Given the description of an element on the screen output the (x, y) to click on. 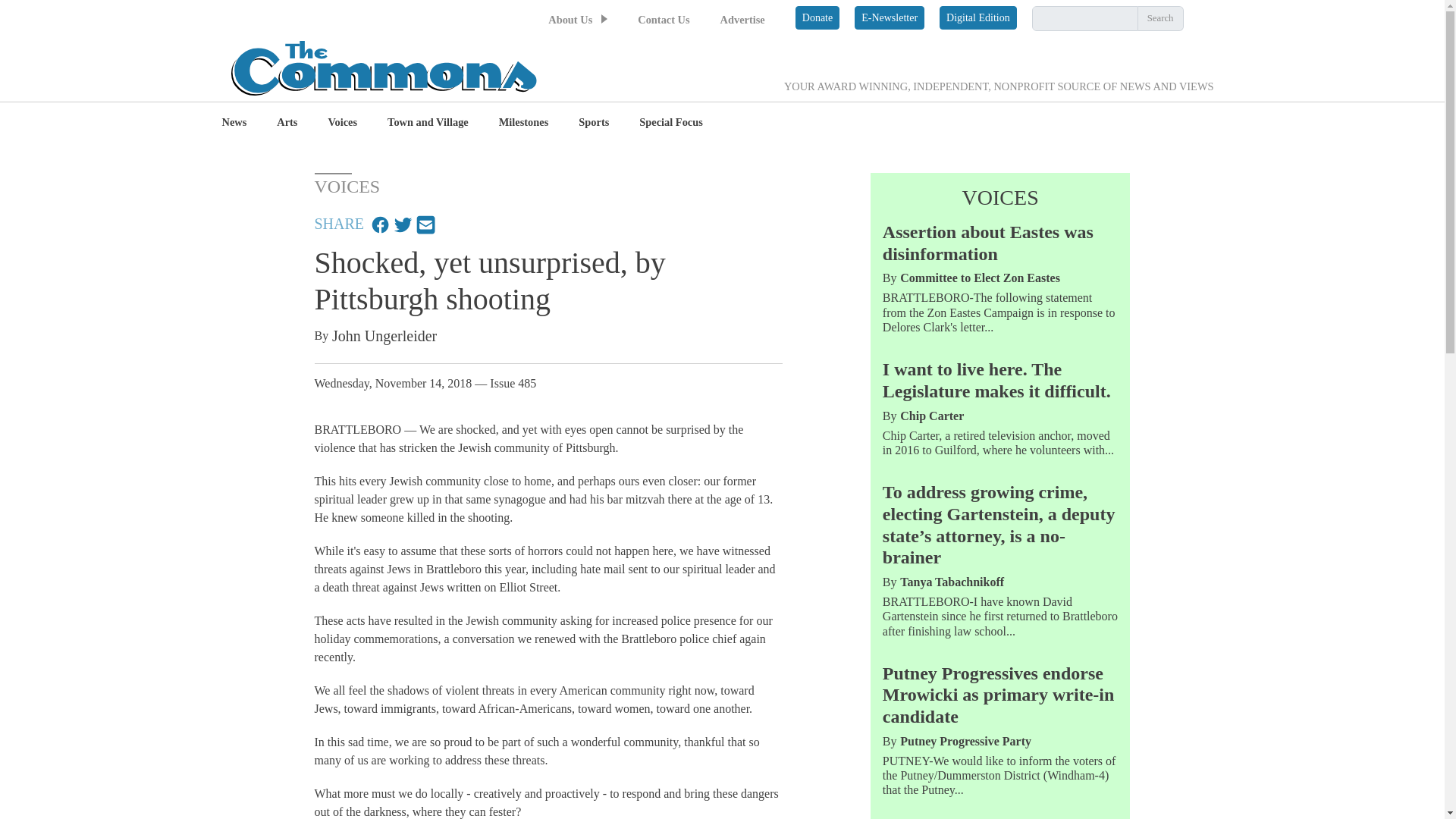
Donate (817, 17)
Search (1160, 18)
Special Focus (671, 122)
Sports (593, 122)
Milestones (523, 122)
E-Newsletter (889, 17)
Voices (341, 122)
Town and Village (427, 122)
Advertise (742, 20)
Digital Edition (977, 17)
